Given the description of an element on the screen output the (x, y) to click on. 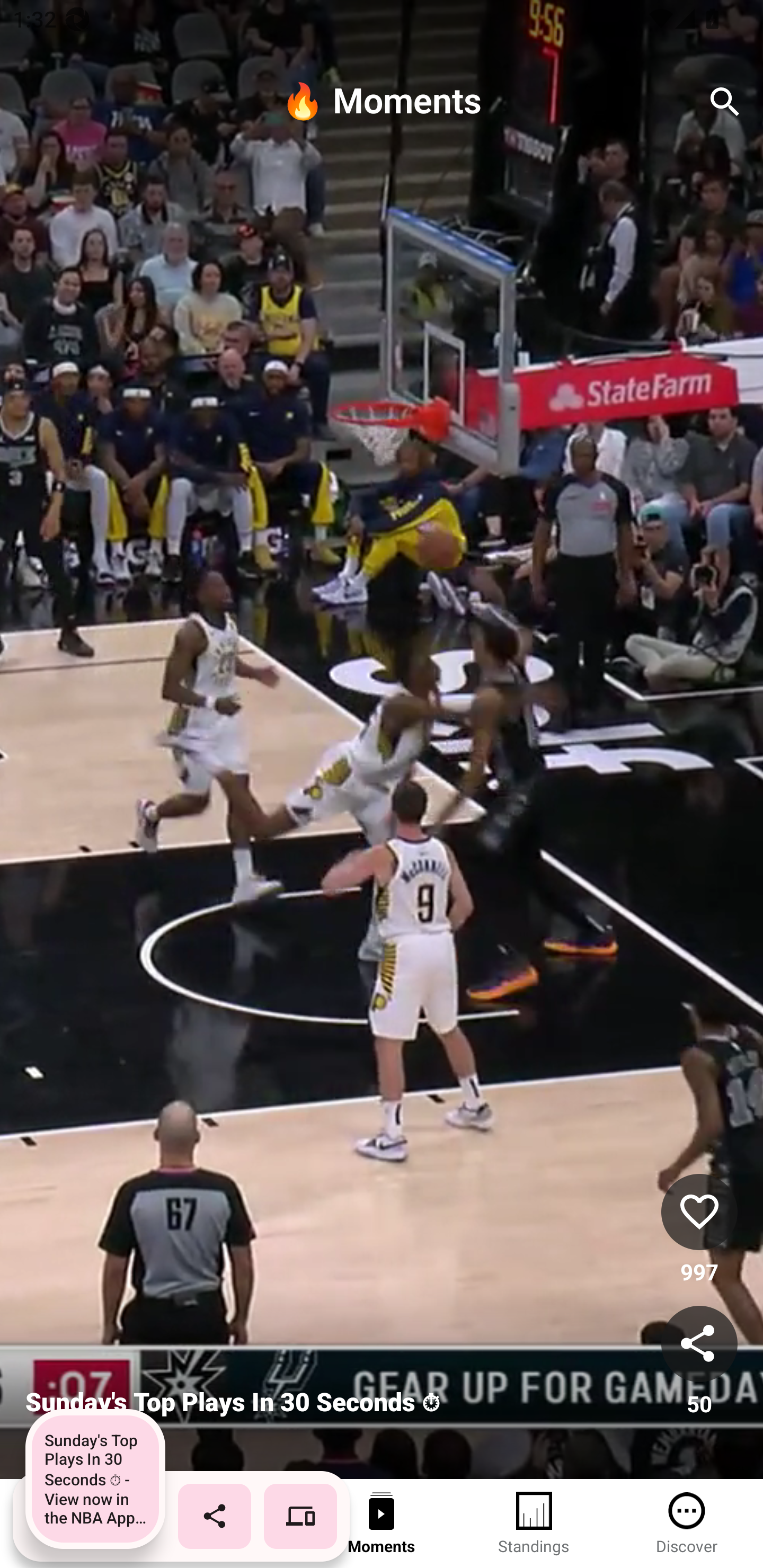
search (724, 101)
like 997 997 Likes (699, 1230)
share 50 50 Shares (699, 1362)
Standings (533, 1523)
Discover (686, 1523)
